Given the description of an element on the screen output the (x, y) to click on. 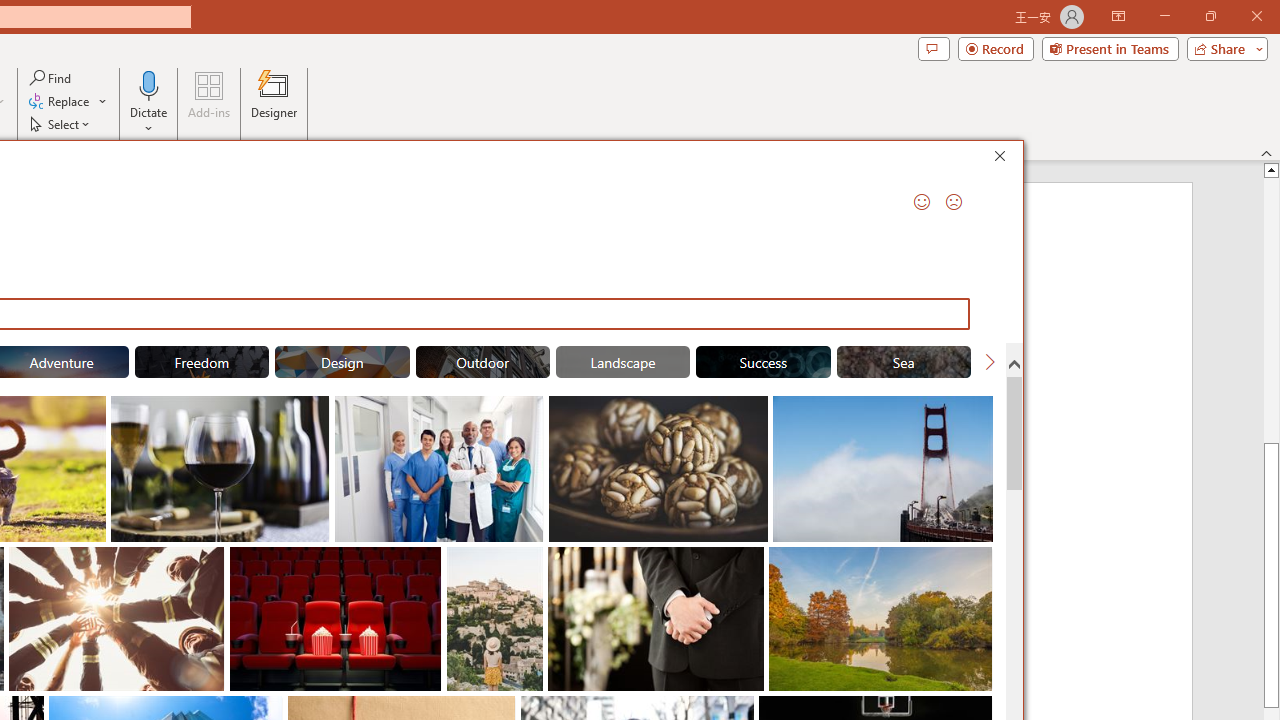
Send a Smile (922, 201)
"Success" Stock Images. (763, 362)
